Given the description of an element on the screen output the (x, y) to click on. 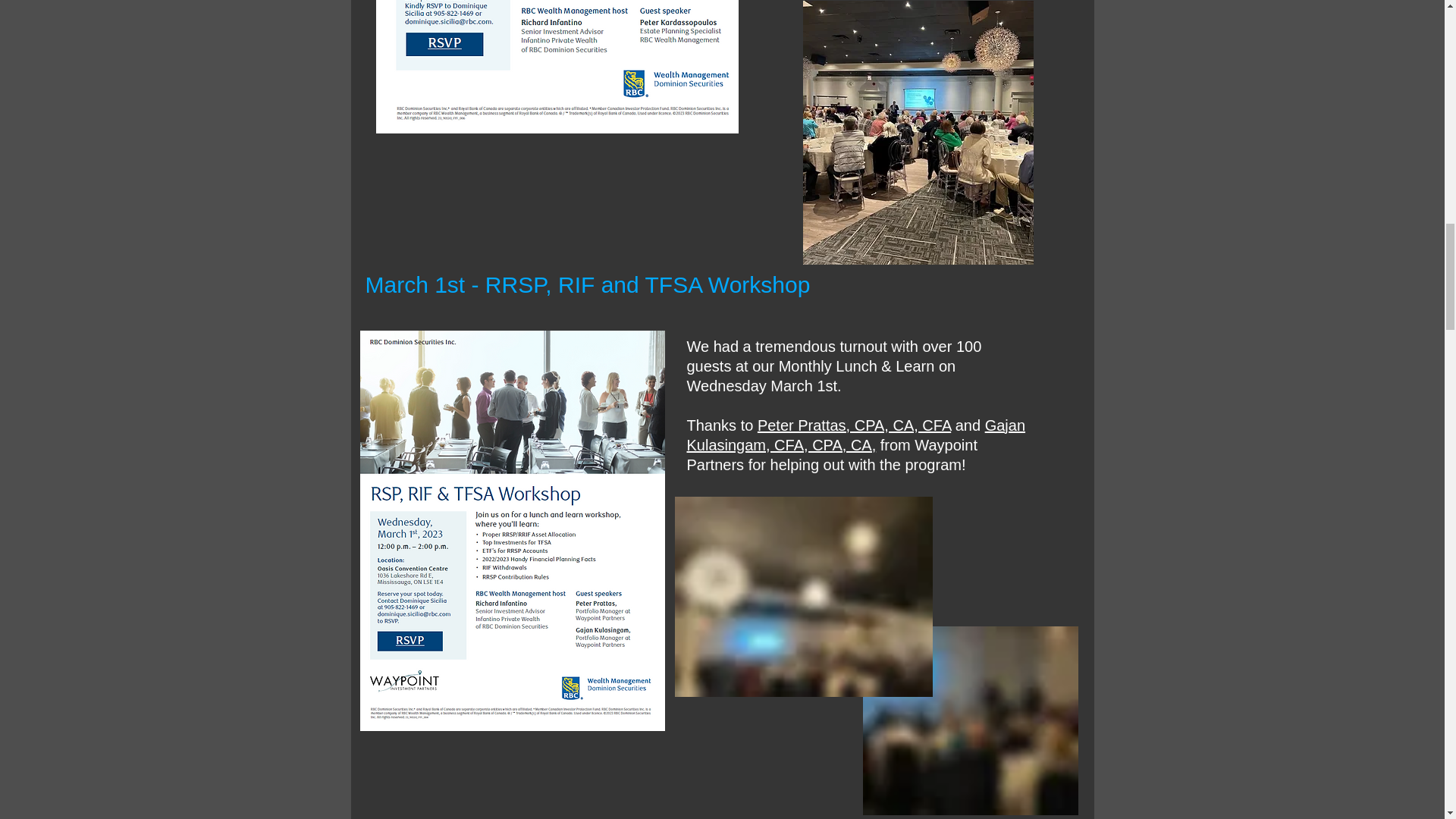
Peter Prattas, CPA, CA, CFA (853, 425)
april 12th.PNG (556, 66)
Gajan Kulasingam, CFA, CPA, CA, (856, 434)
